Given the description of an element on the screen output the (x, y) to click on. 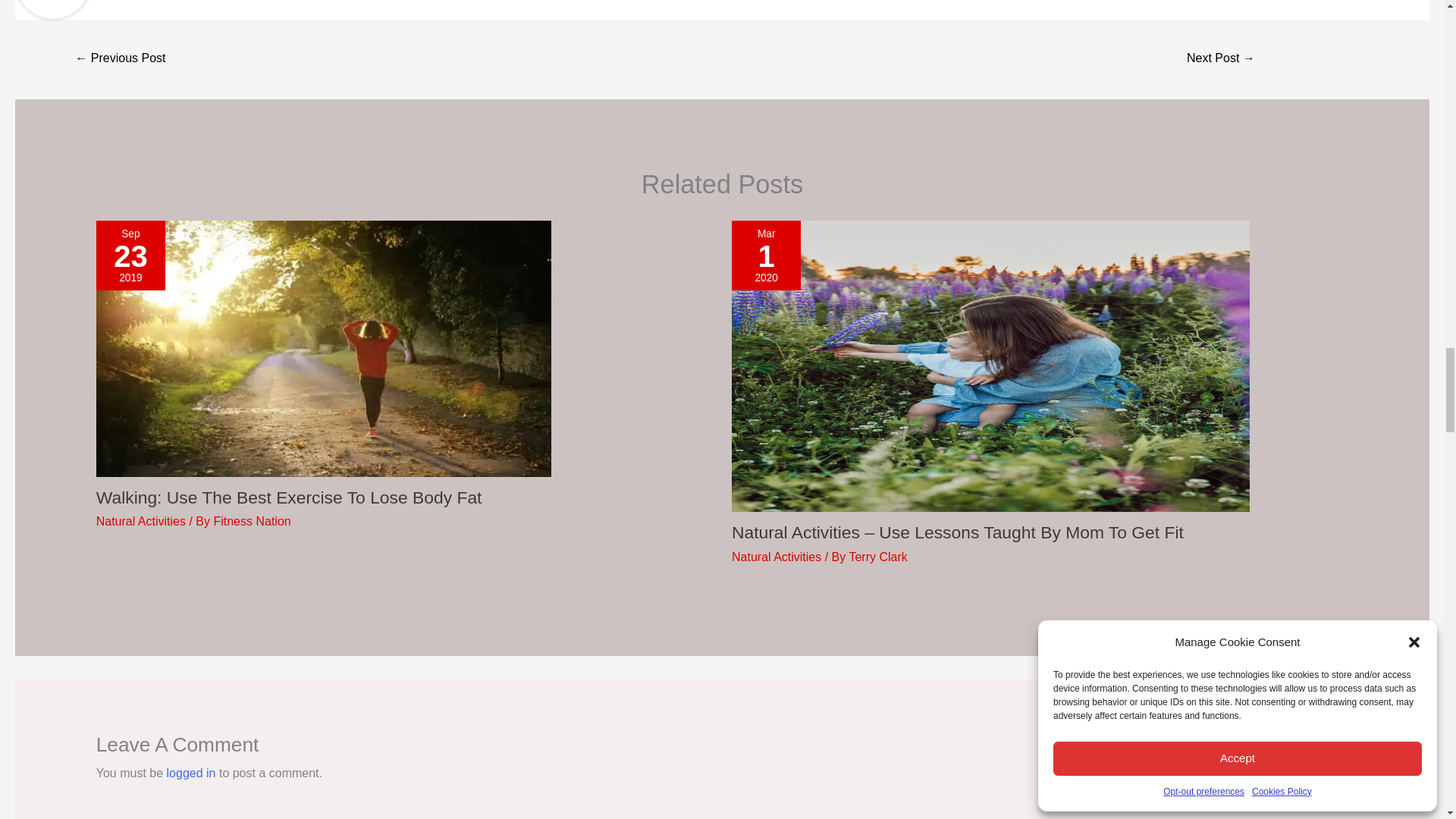
View all posts by Terry Clark (877, 556)
Olympic Weight Lifts - Try for a Competitive Edge In the Gym (119, 59)
View all posts by Fitness Nation (250, 521)
Pain Relief: Follow These Tips for Better Results (1220, 59)
